Given the description of an element on the screen output the (x, y) to click on. 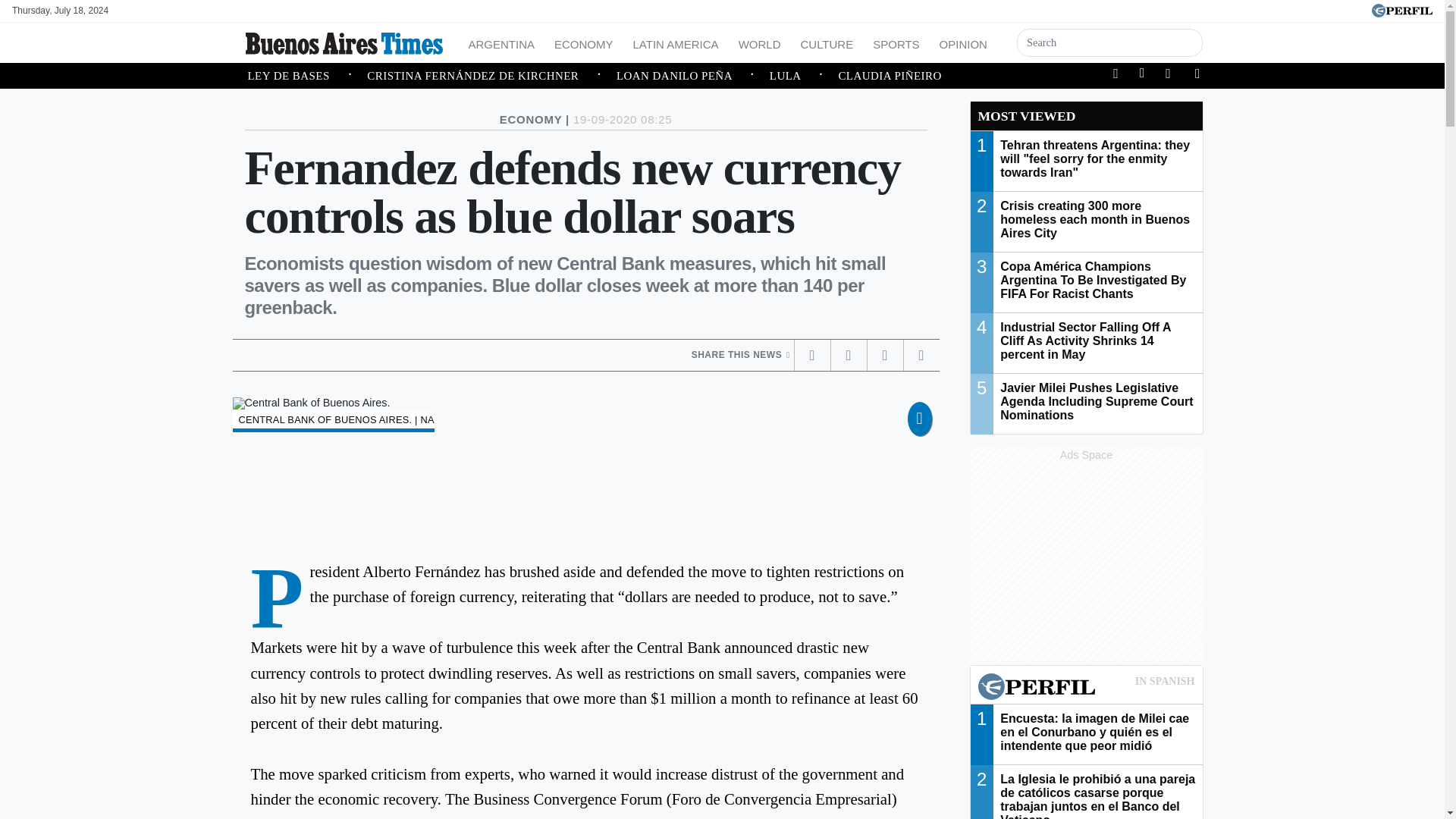
Sports (895, 42)
SPORTS (895, 42)
WORLD (759, 42)
ECONOMY (584, 42)
World (759, 42)
OPINION (962, 42)
Argentina (502, 42)
Opinion And Analysis (962, 42)
Culture (826, 42)
Latin America (676, 42)
CULTURE (826, 42)
LULA (804, 75)
